Given the description of an element on the screen output the (x, y) to click on. 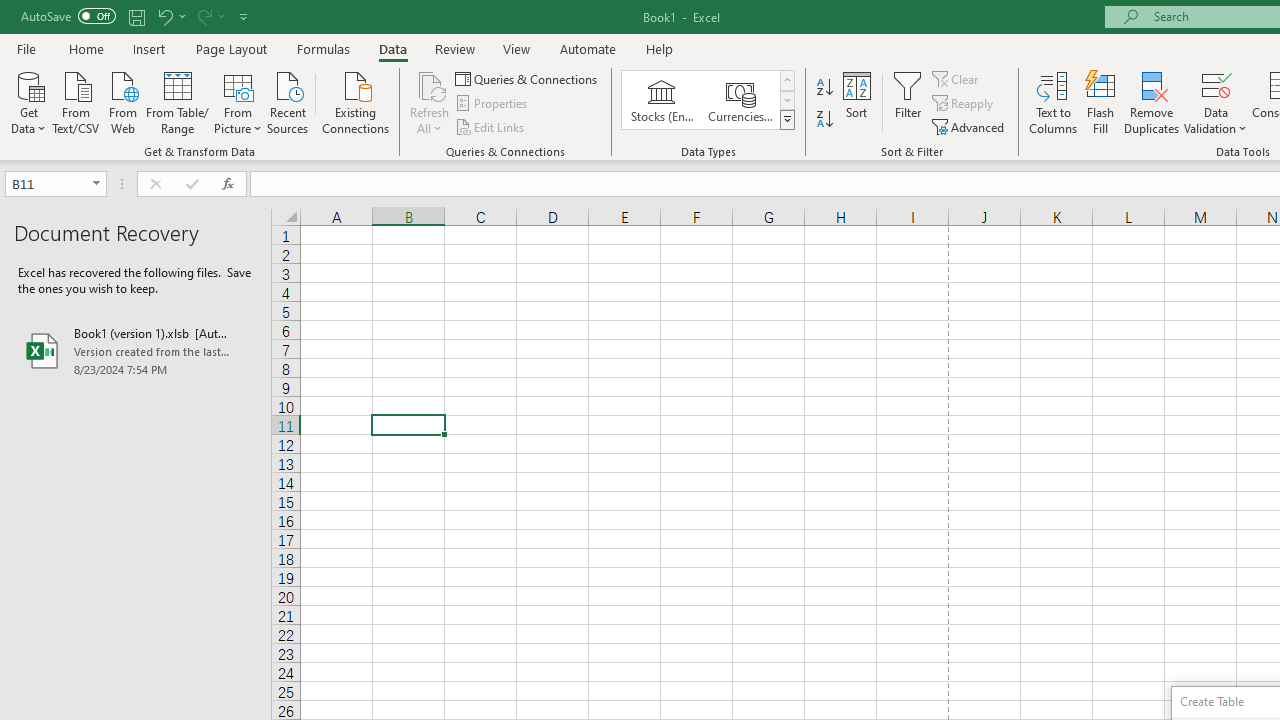
Filter (908, 102)
Sort A to Z (824, 87)
Reapply (964, 103)
From Picture (238, 101)
From Table/Range (177, 101)
Row Down (786, 100)
Properties (492, 103)
Book1 (version 1).xlsb  [AutoRecovered] (136, 350)
